Given the description of an element on the screen output the (x, y) to click on. 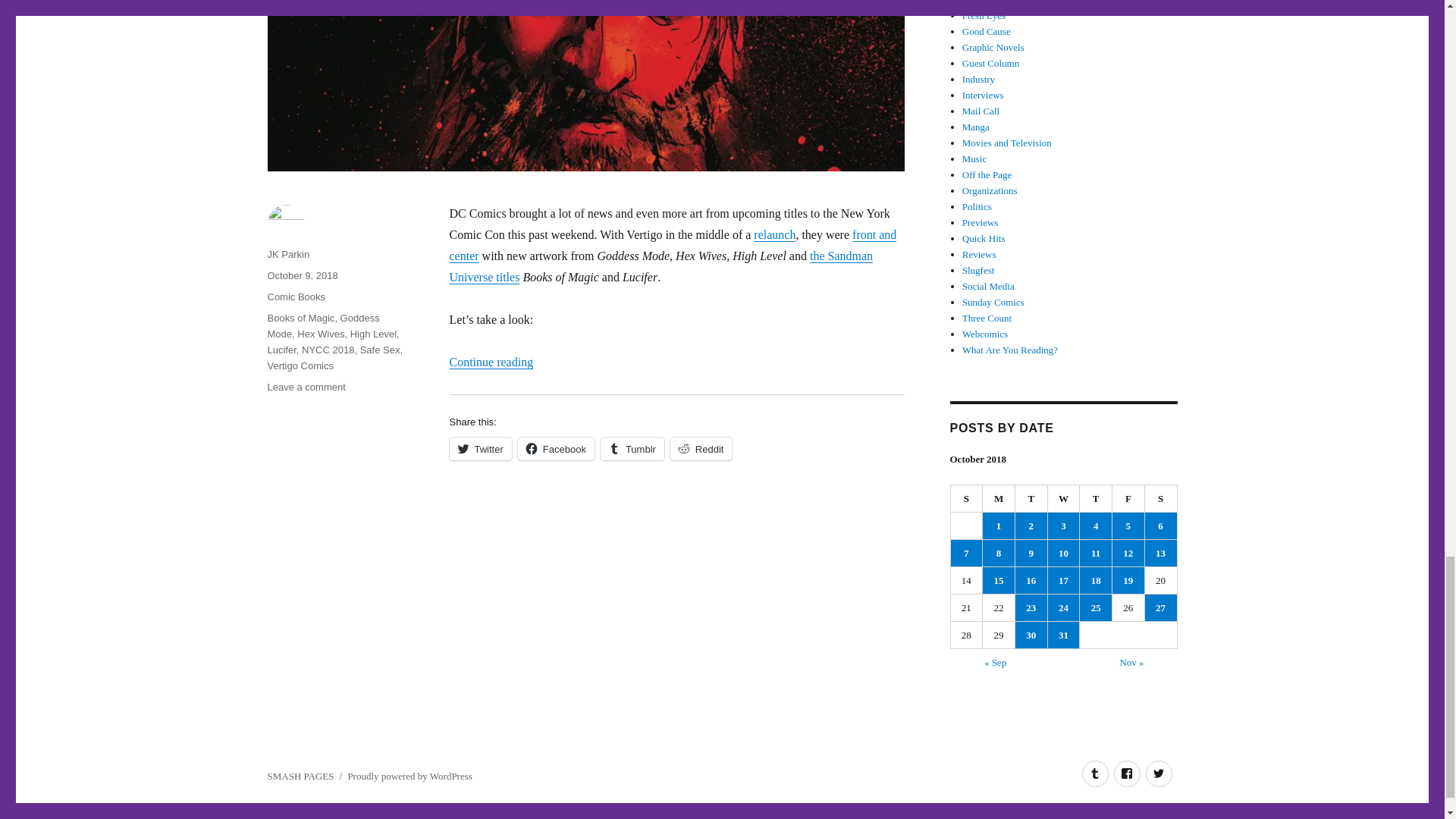
the Sandman Universe titles (660, 266)
Saturday (1160, 498)
Thursday (1096, 498)
Monday (998, 498)
Sunday (967, 498)
Friday (1128, 498)
Tuesday (1031, 498)
front and center (672, 245)
October 9, 2018 (301, 275)
Click to share on Facebook (556, 448)
